Given the description of an element on the screen output the (x, y) to click on. 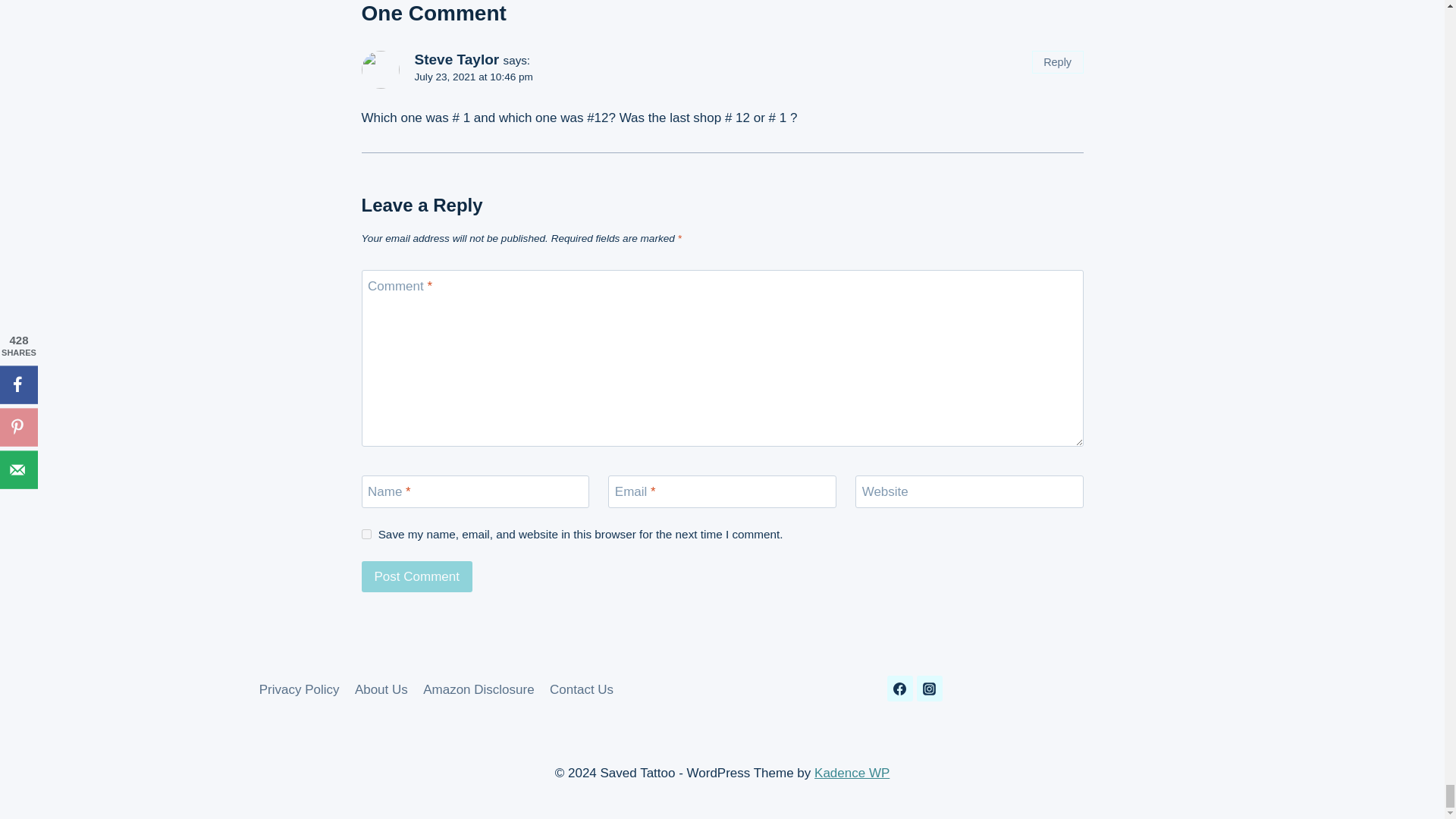
Post Comment (416, 576)
yes (366, 533)
